Given the description of an element on the screen output the (x, y) to click on. 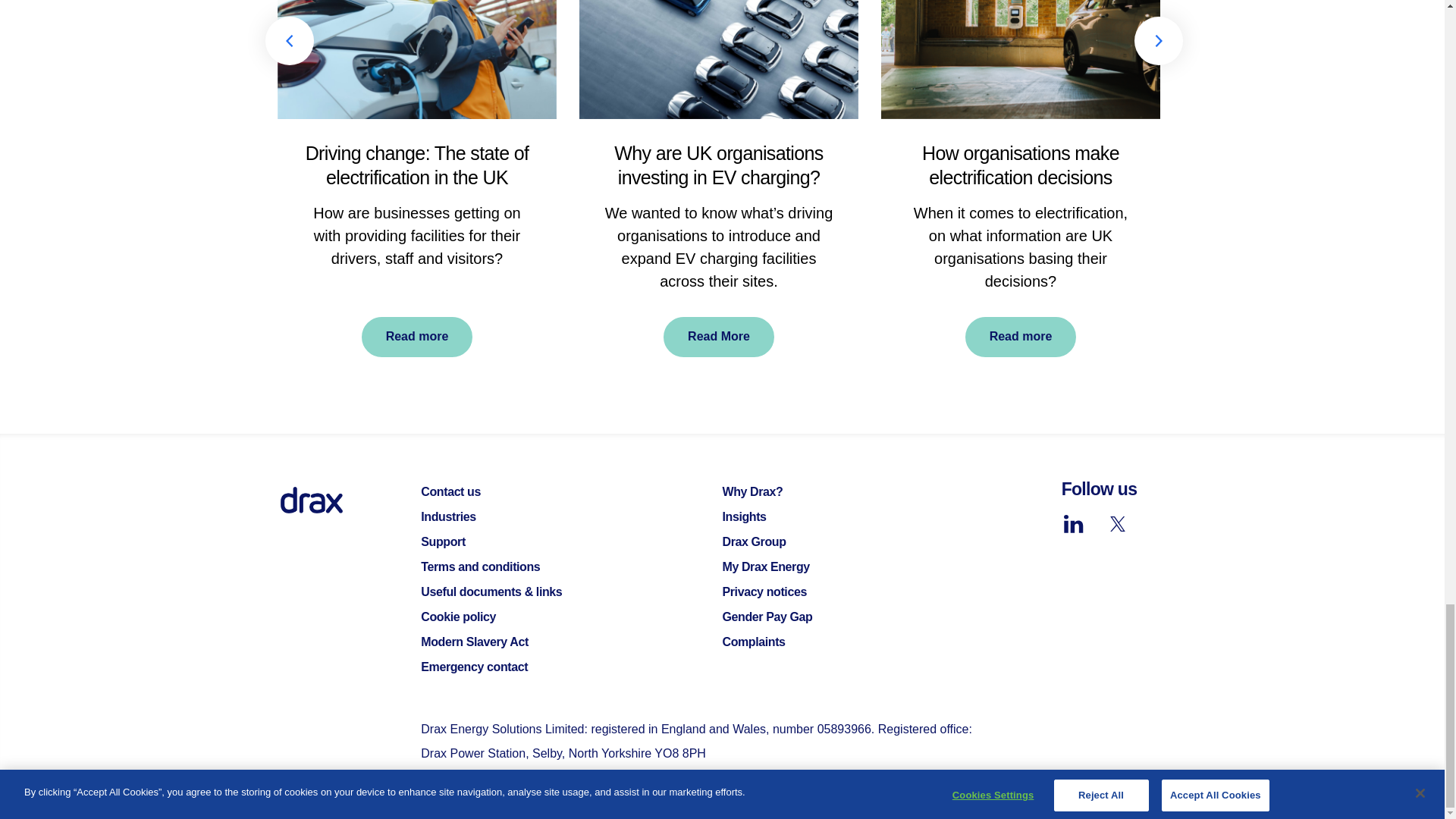
Twitter (1117, 524)
LinkedIn (1073, 524)
